Given the description of an element on the screen output the (x, y) to click on. 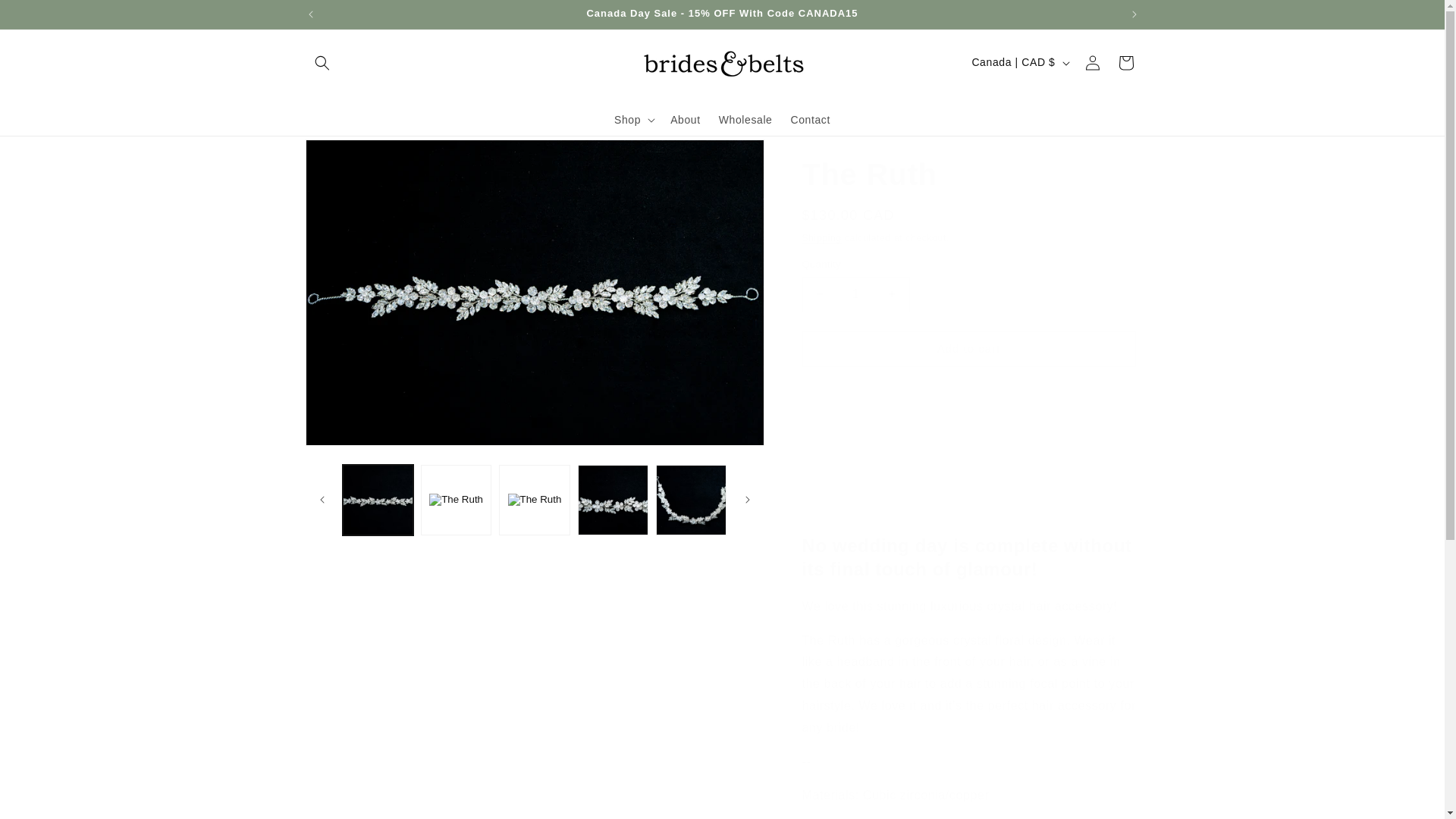
1 (856, 294)
Skip to content (45, 17)
